Given the description of an element on the screen output the (x, y) to click on. 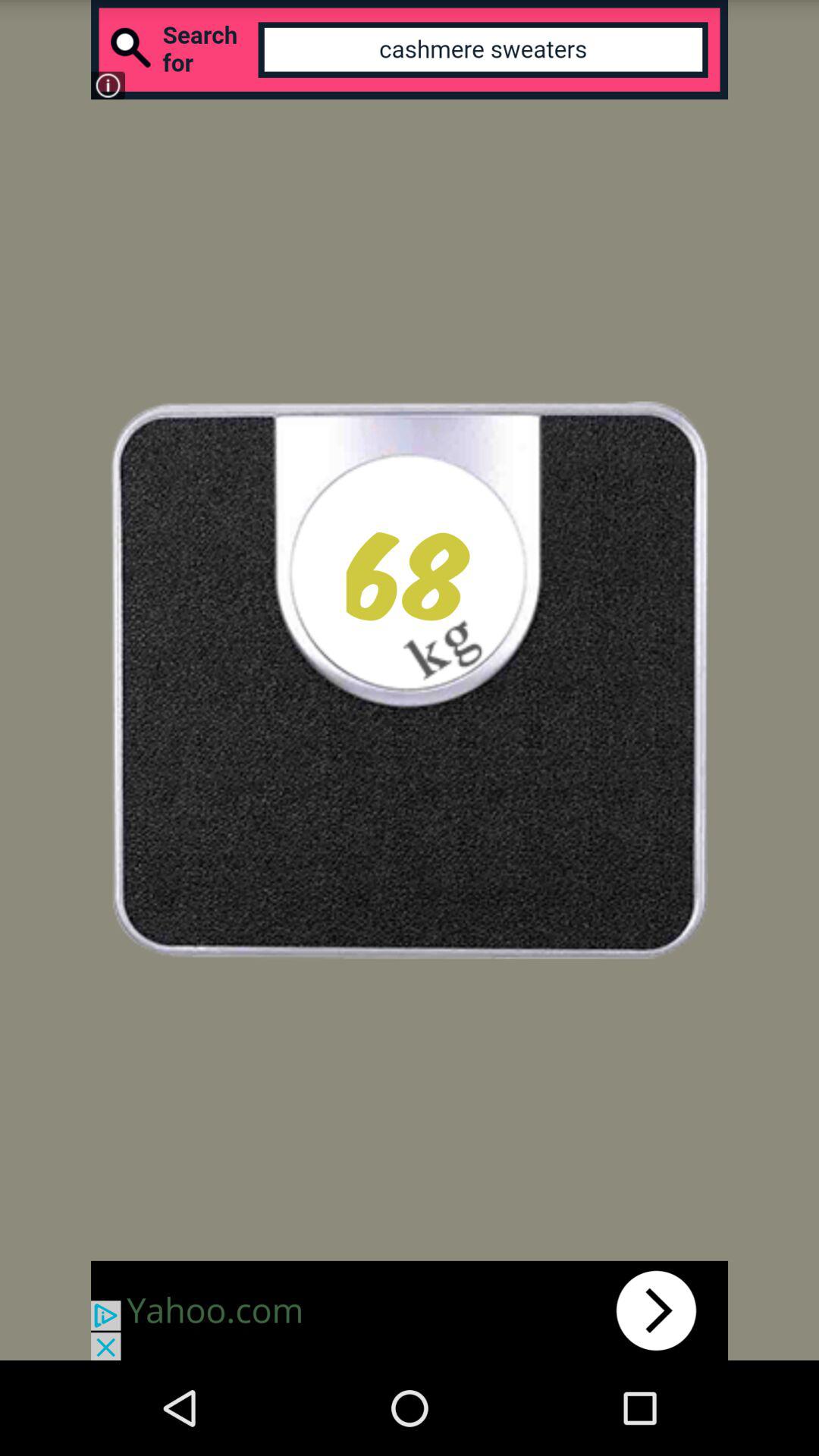
go to yahoo.com (409, 1310)
